Given the description of an element on the screen output the (x, y) to click on. 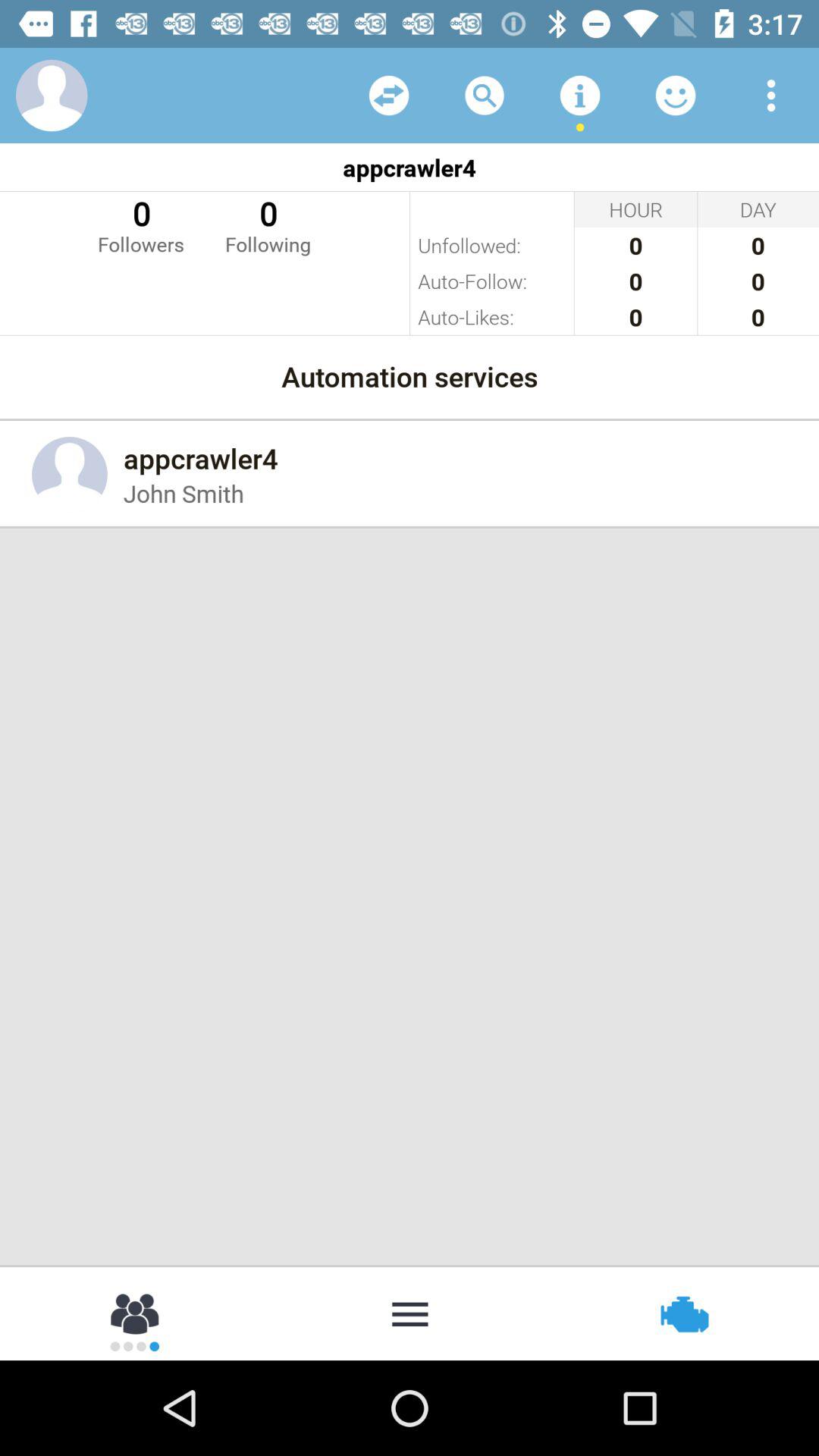
check groups section (136, 1312)
